Given the description of an element on the screen output the (x, y) to click on. 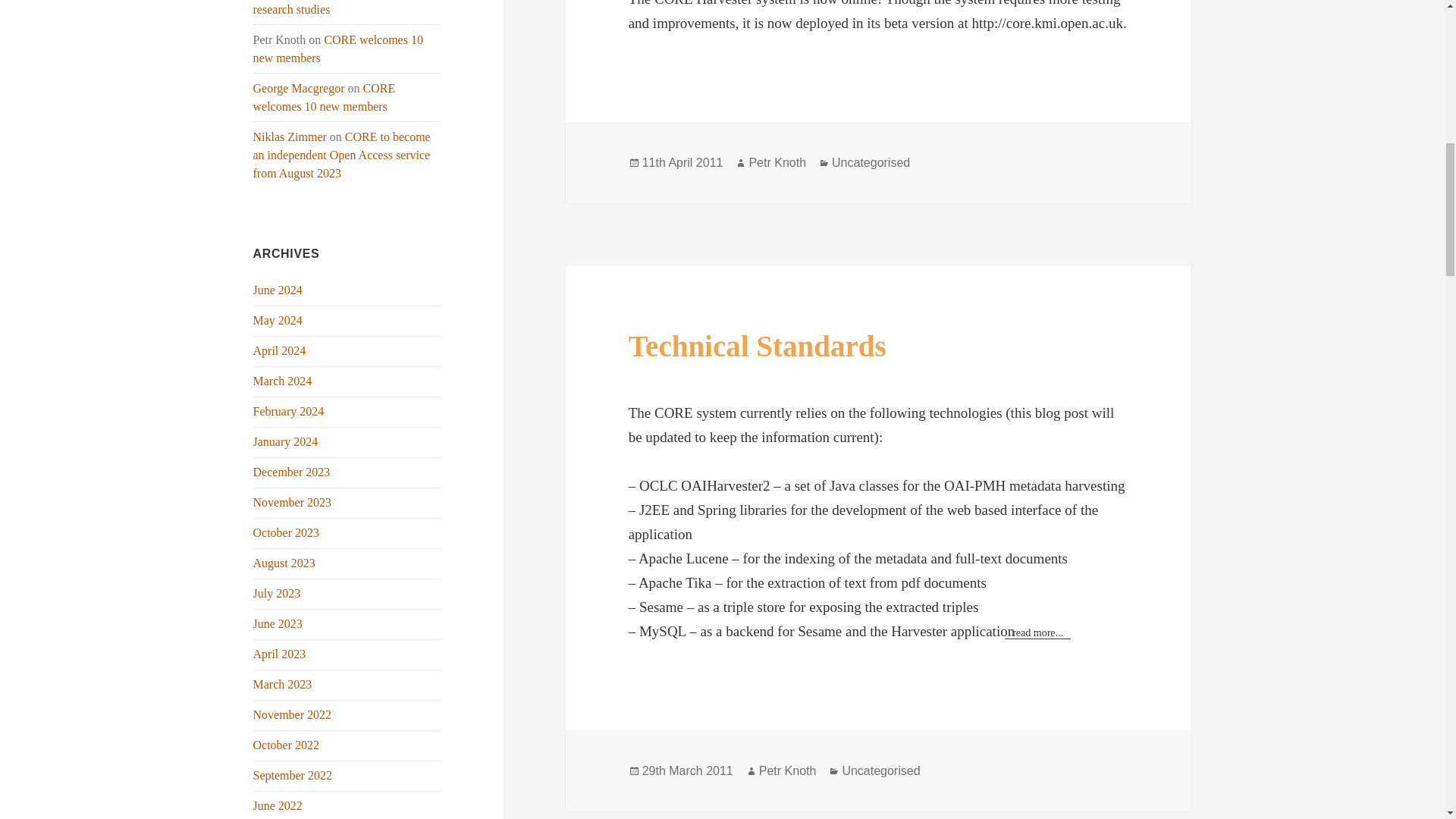
June 2023 (277, 623)
October 2022 (286, 744)
August 2023 (284, 562)
January 2024 (285, 440)
November 2023 (292, 502)
November 2022 (292, 714)
June 2022 (277, 805)
May 2024 (277, 319)
April 2023 (279, 653)
March 2024 (283, 380)
